Given the description of an element on the screen output the (x, y) to click on. 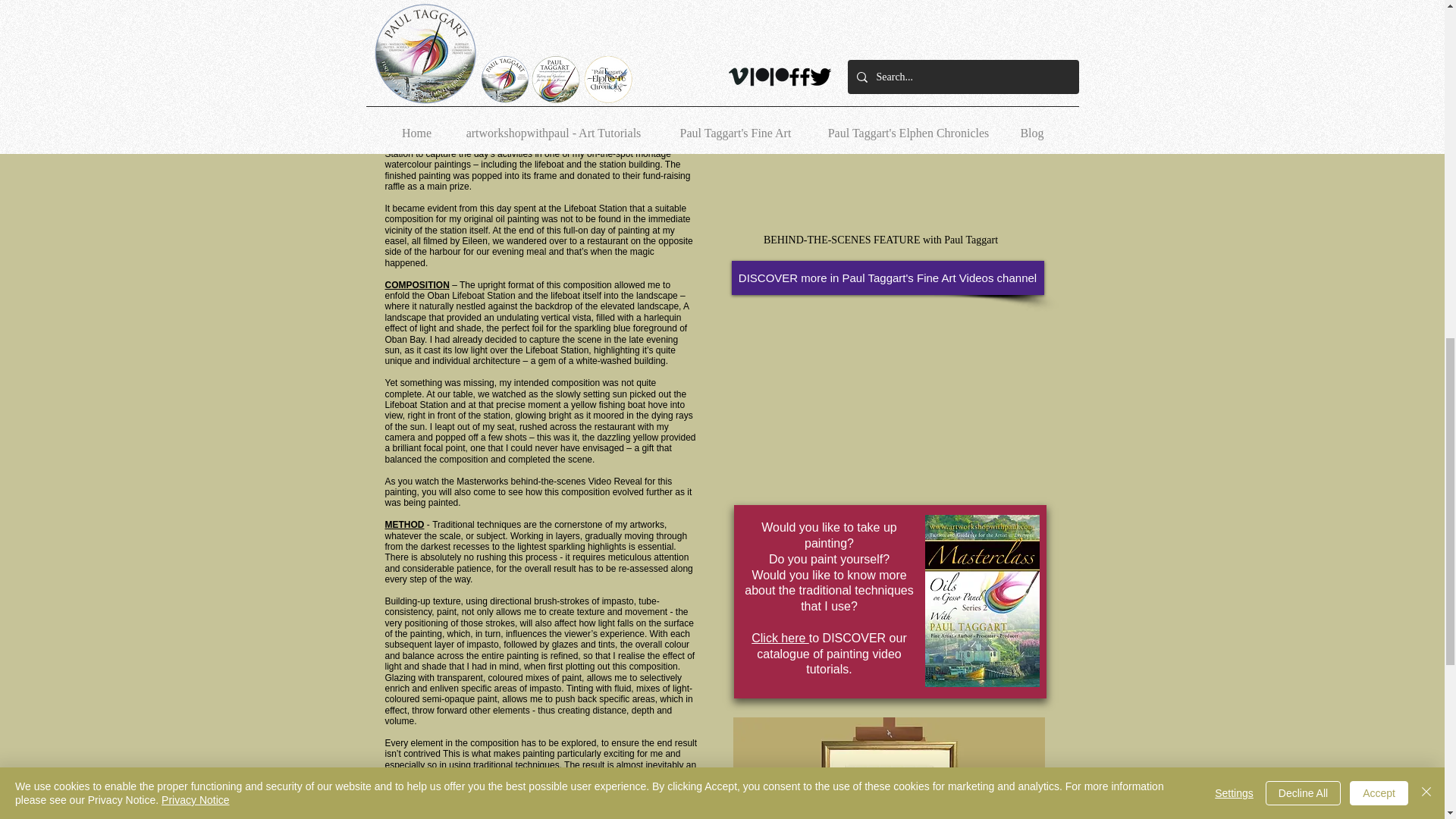
Click to Magnify (879, 239)
